Given the description of an element on the screen output the (x, y) to click on. 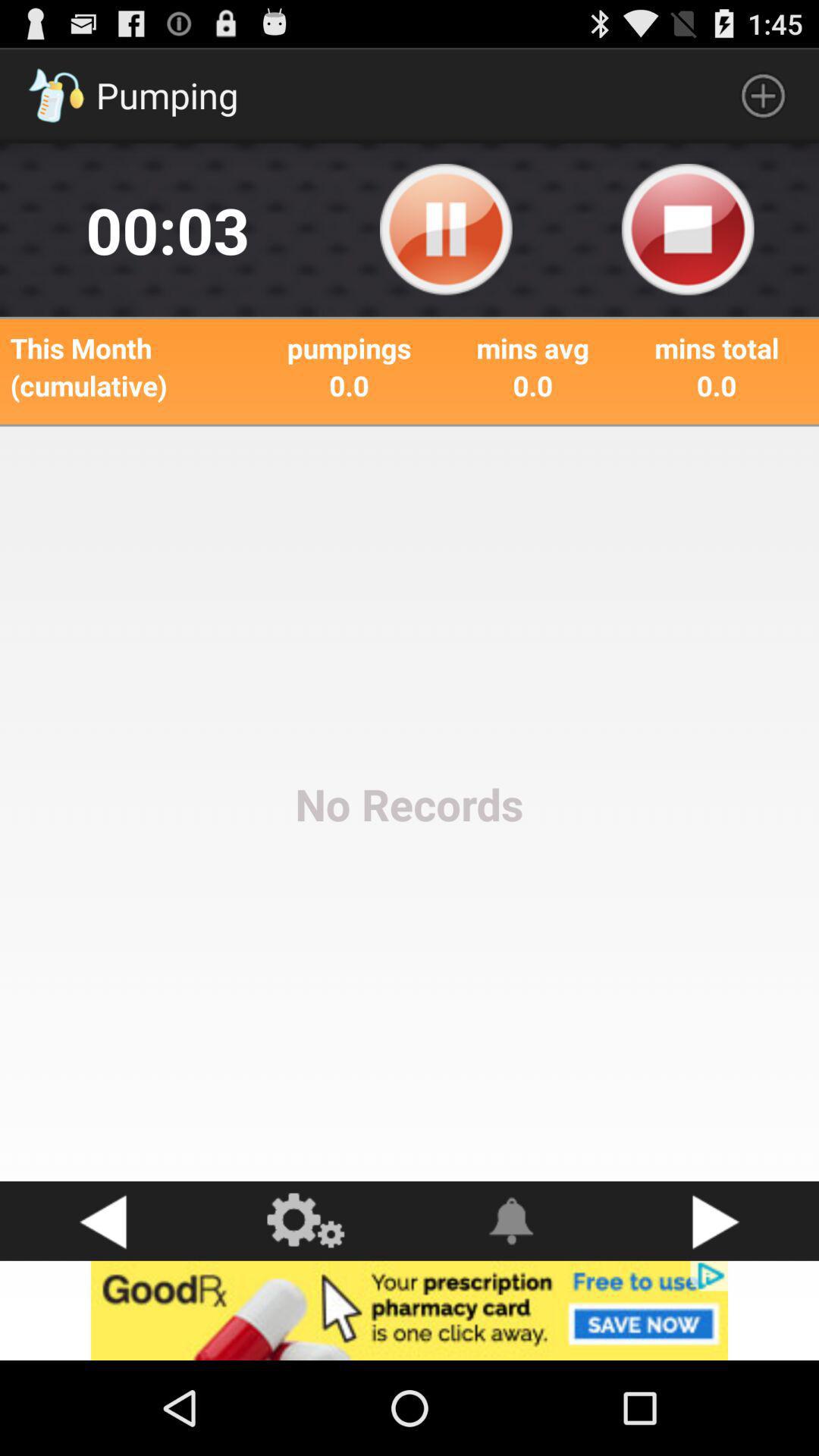
go to settings (306, 1220)
